Given the description of an element on the screen output the (x, y) to click on. 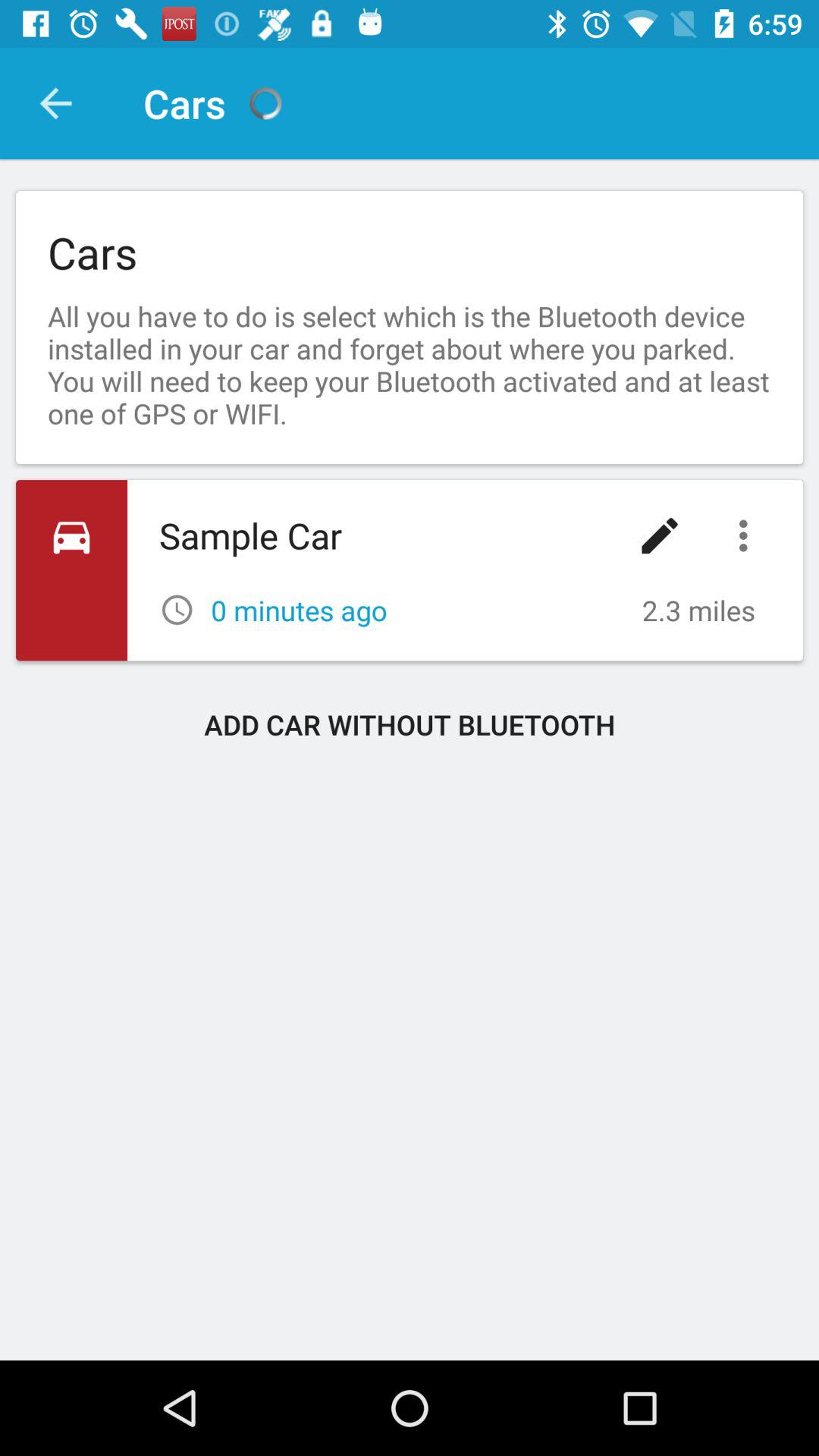
launch the icon above the 2.3 miles (659, 535)
